Given the description of an element on the screen output the (x, y) to click on. 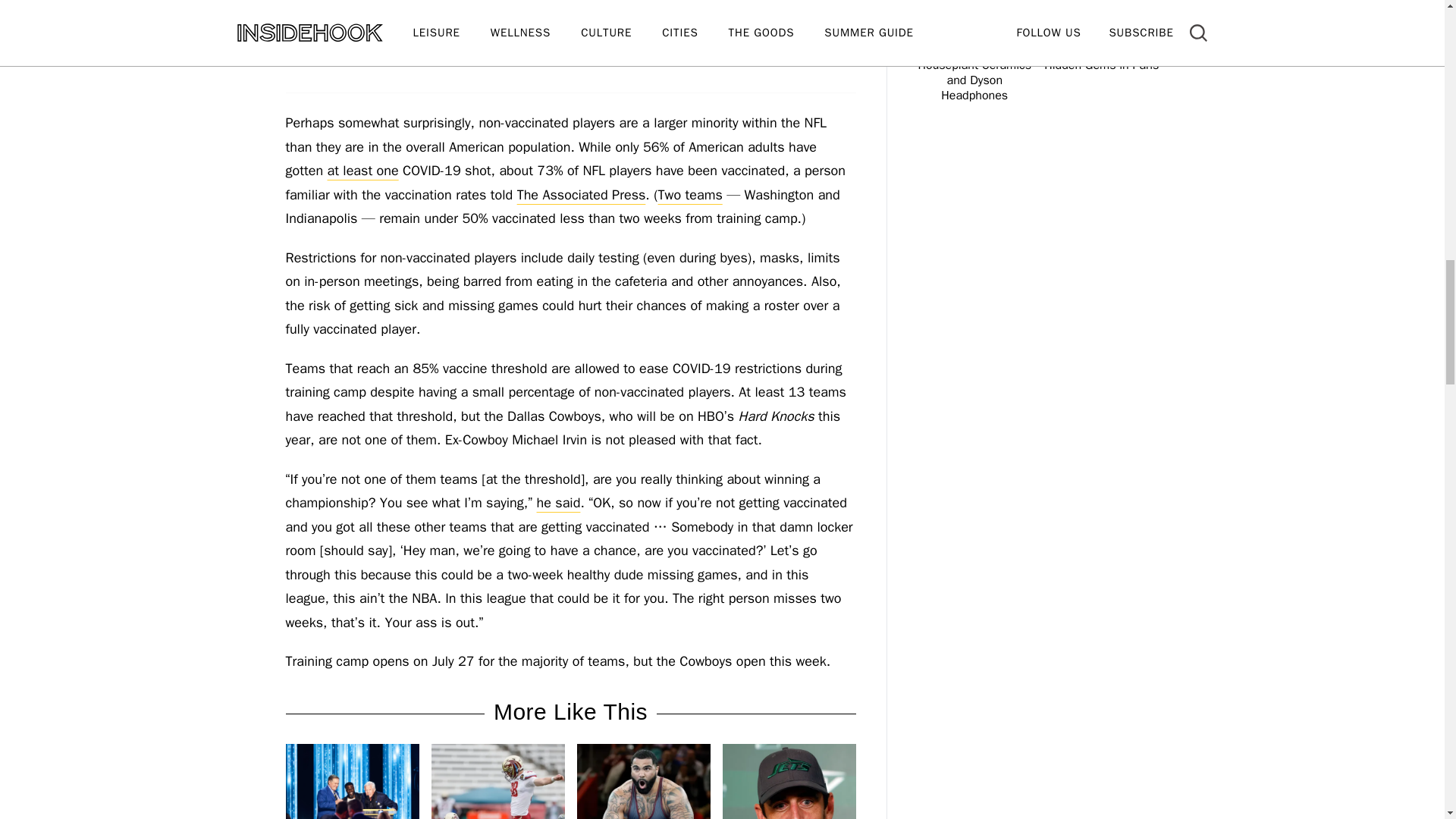
3rd party ad content (570, 41)
